Given the description of an element on the screen output the (x, y) to click on. 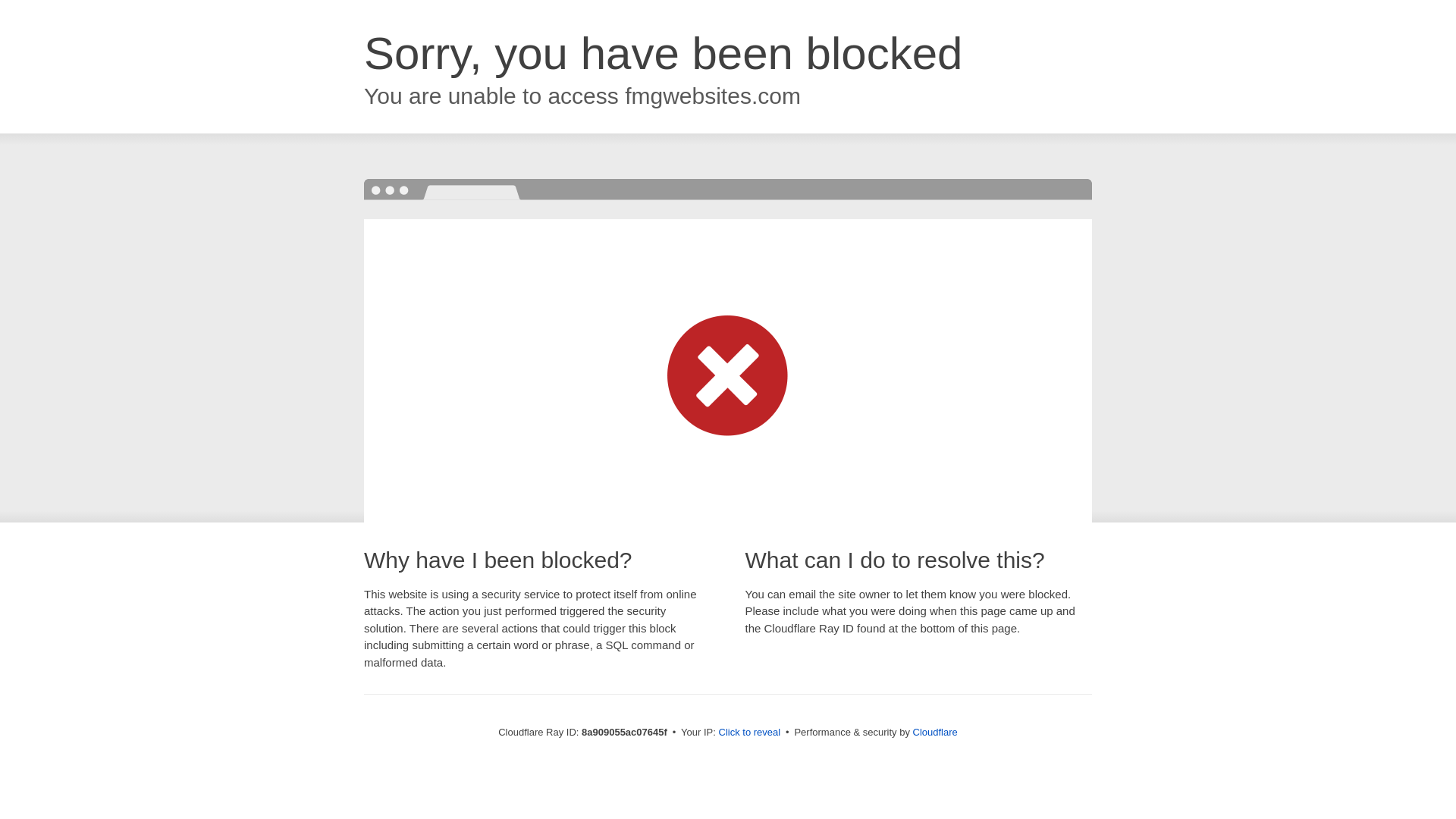
Cloudflare (935, 731)
Click to reveal (749, 732)
